Given the description of an element on the screen output the (x, y) to click on. 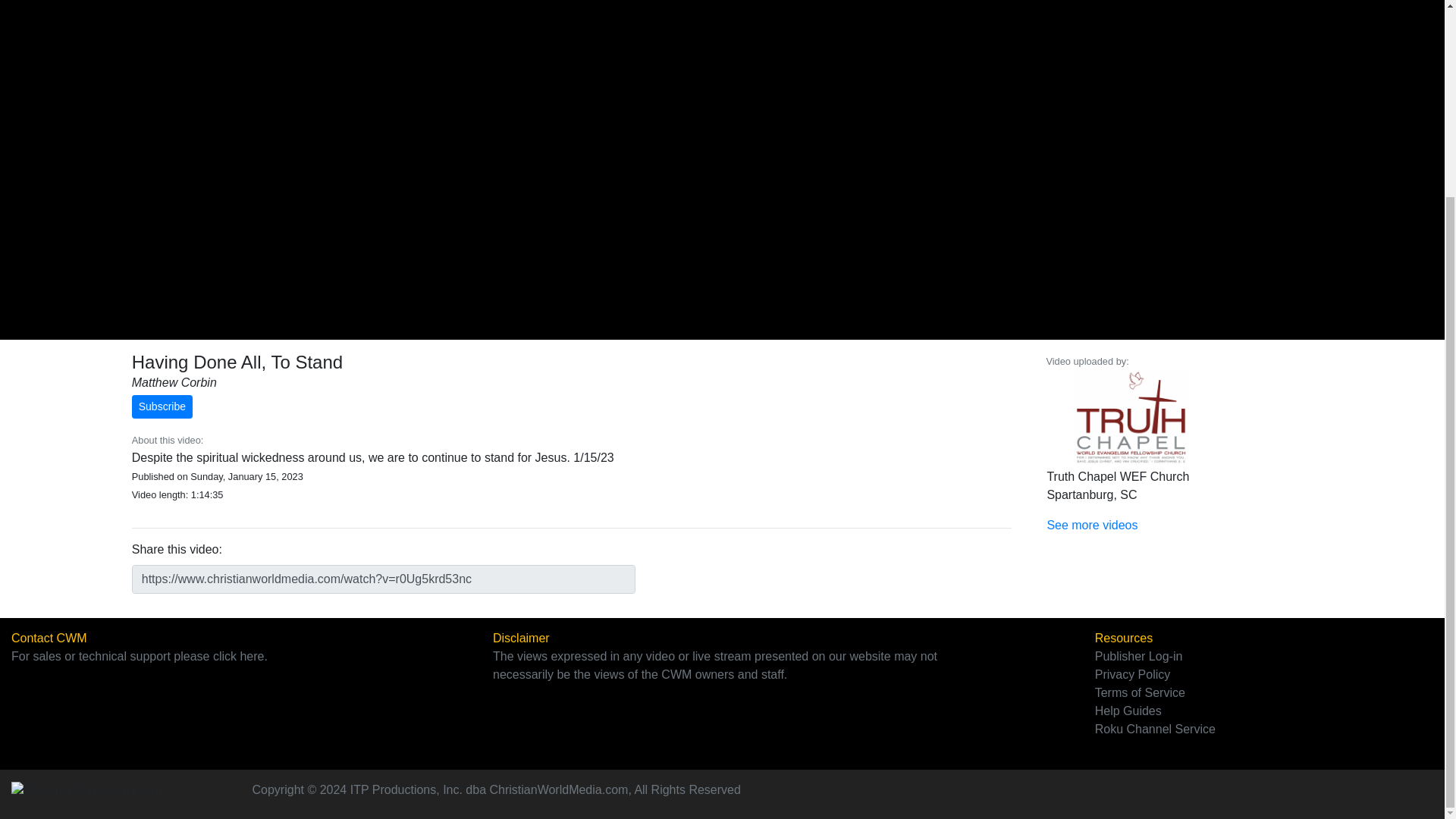
Roku Channel Service (1154, 728)
See more videos (1091, 524)
For sales or technical support please click here. (139, 656)
Publisher Log-in (1138, 656)
Help Guides (1127, 710)
Subscribe (162, 406)
Privacy Policy (1132, 674)
Terms of Service (1139, 692)
